Given the description of an element on the screen output the (x, y) to click on. 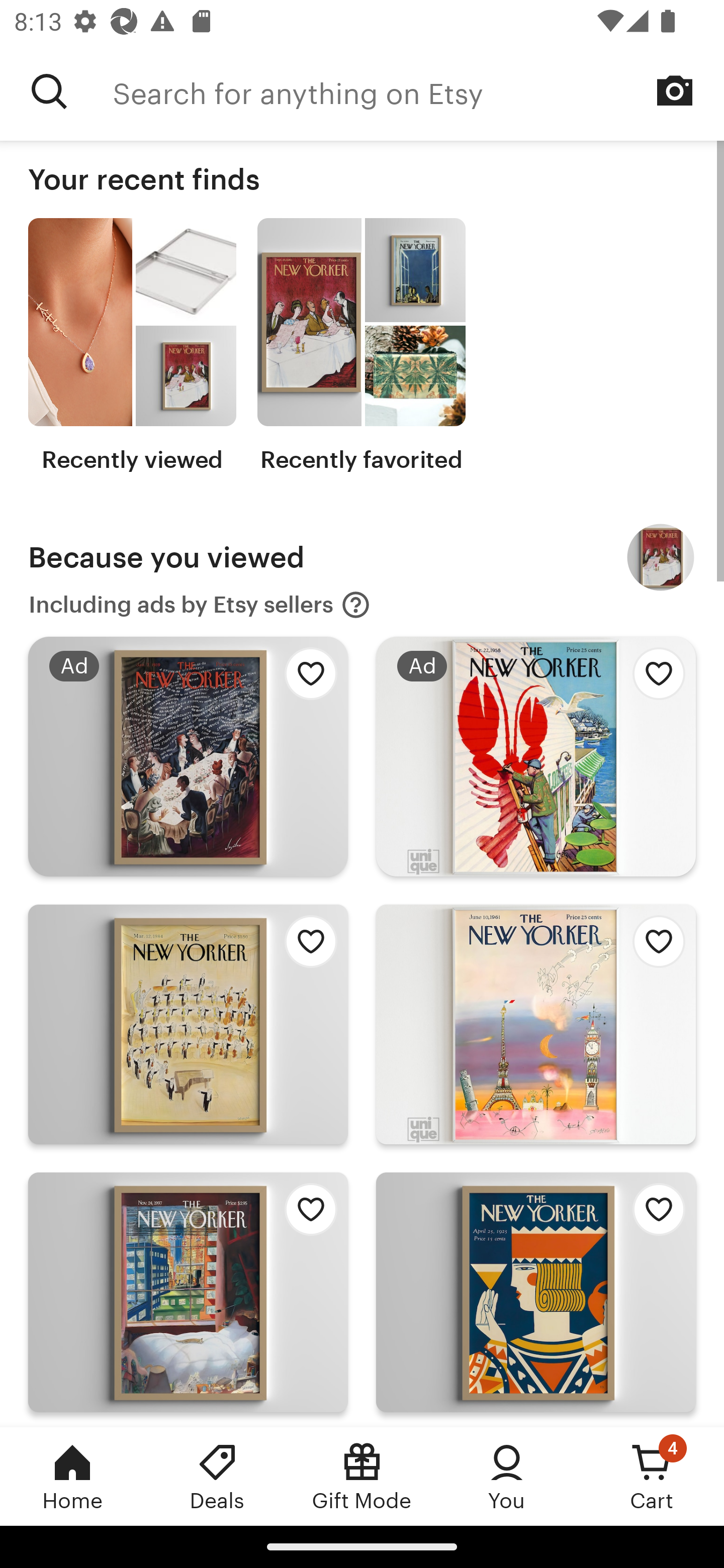
Search for anything on Etsy (49, 91)
Search by image (674, 90)
Search for anything on Etsy (418, 91)
Recently viewed (132, 345)
Recently favorited (361, 345)
Including ads by Etsy sellers (199, 604)
Deals (216, 1475)
Gift Mode (361, 1475)
You (506, 1475)
Cart, 4 new notifications Cart (651, 1475)
